Given the description of an element on the screen output the (x, y) to click on. 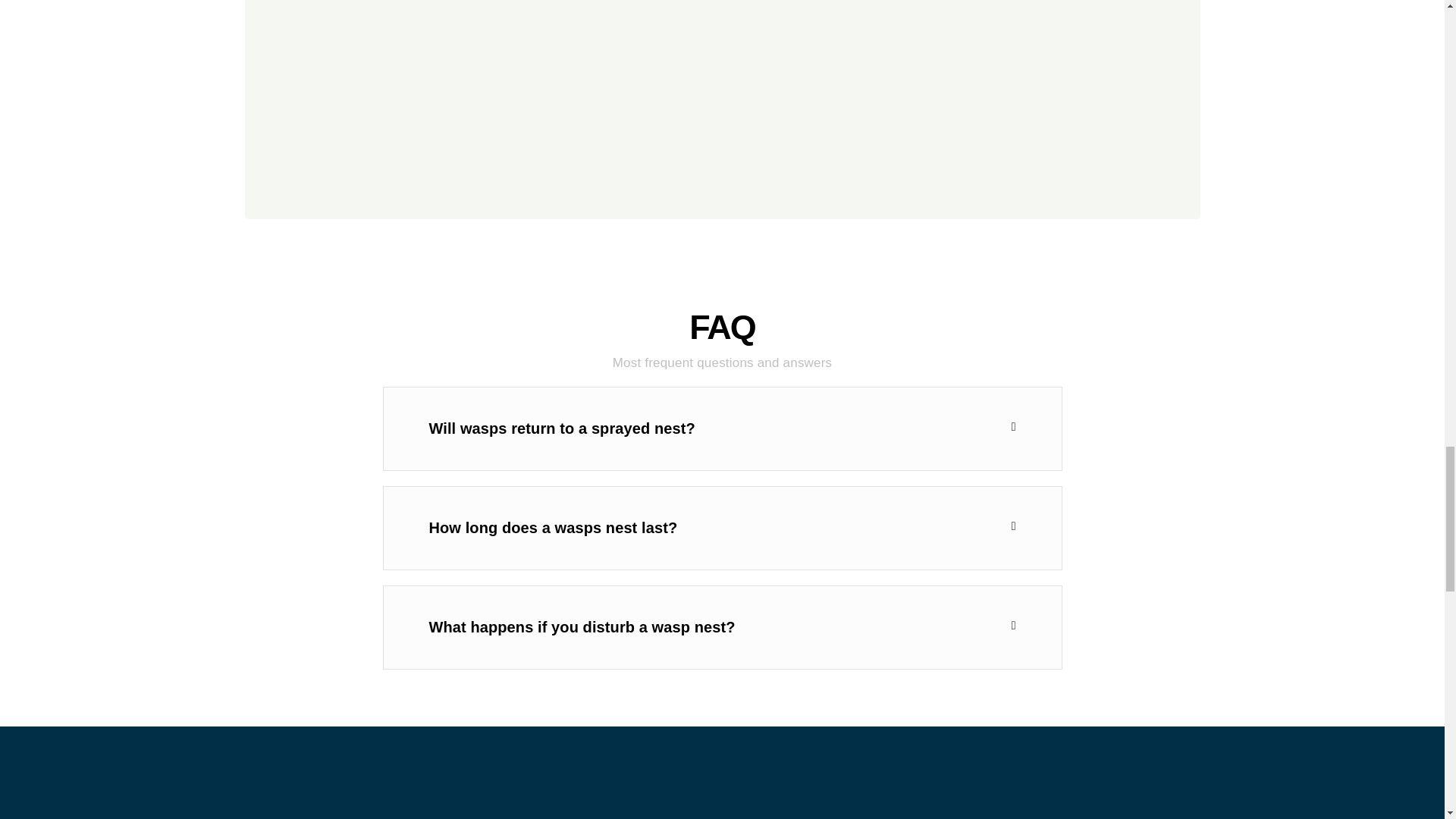
How long does a wasps nest last? (553, 527)
What happens if you disturb a wasp nest? (582, 627)
Will wasps return to a sprayed nest? (562, 428)
